Given the description of an element on the screen output the (x, y) to click on. 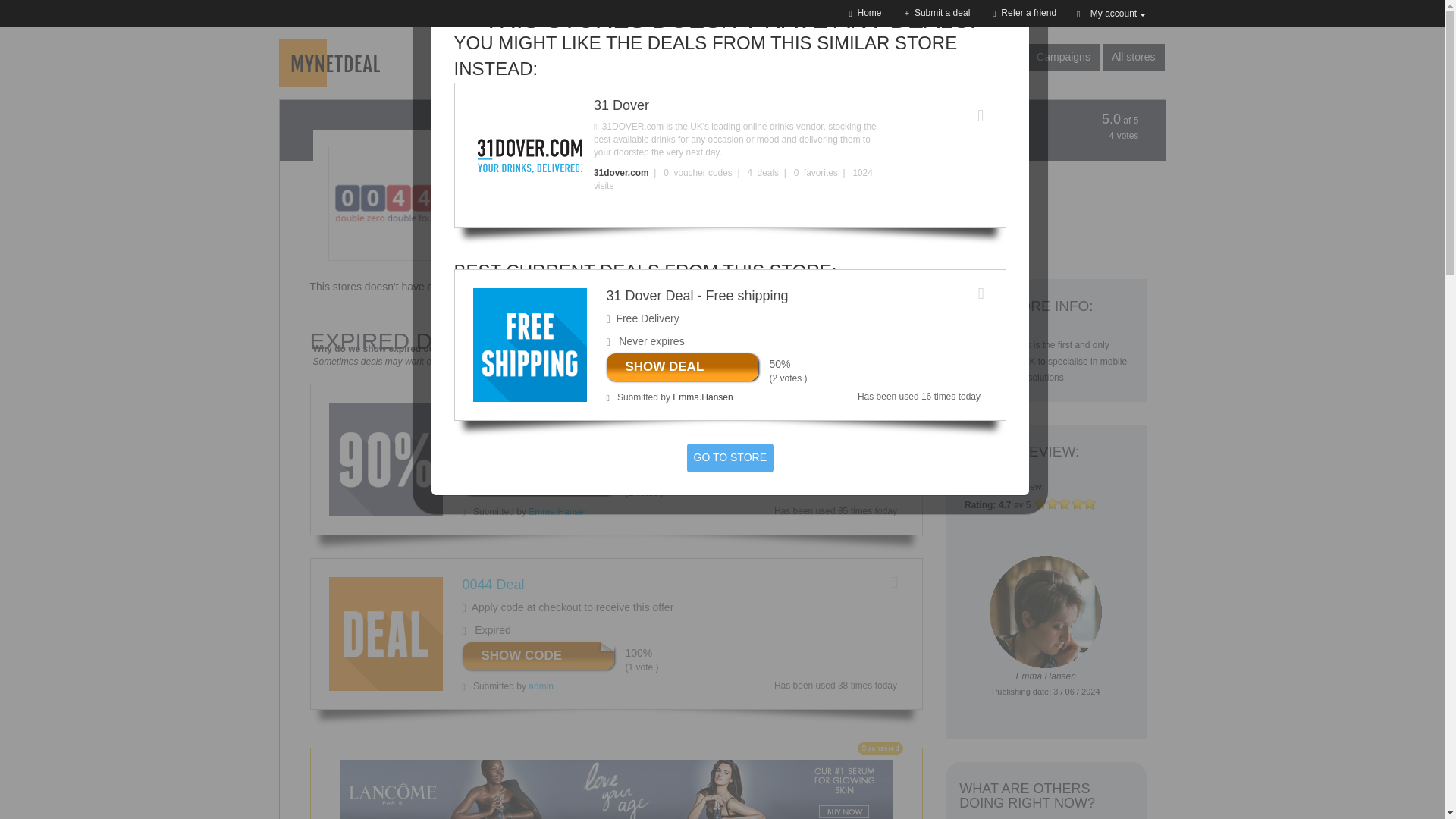
All stores (1133, 57)
    My account  (1110, 13)
IESALE350 (574, 654)
Lancome (616, 789)
Do you want to save this deal? (894, 582)
Asos (846, 81)
  Home (864, 12)
Do you want to save this deal? (981, 293)
Campaigns (1063, 57)
Emma.Hansen (558, 511)
Save this store? (434, 246)
0044.co.uk (493, 213)
0044 Deal (493, 584)
here (696, 286)
Argos (821, 81)
